Given the description of an element on the screen output the (x, y) to click on. 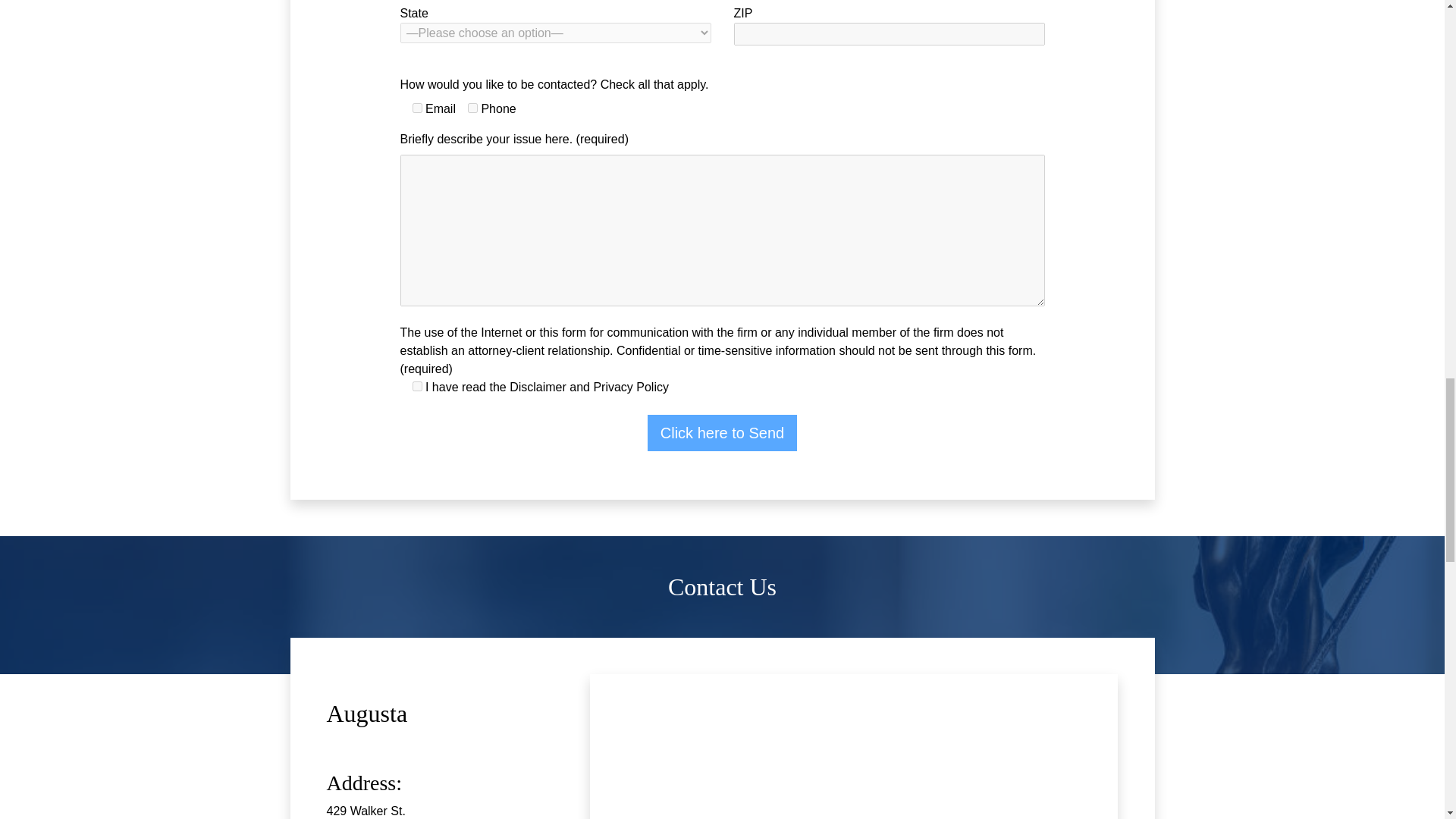
Augusta Google Map (853, 746)
Phone (472, 108)
I have read the Disclaimer and Privacy Policy (417, 386)
Email (417, 108)
Click here to Send (721, 432)
